Given the description of an element on the screen output the (x, y) to click on. 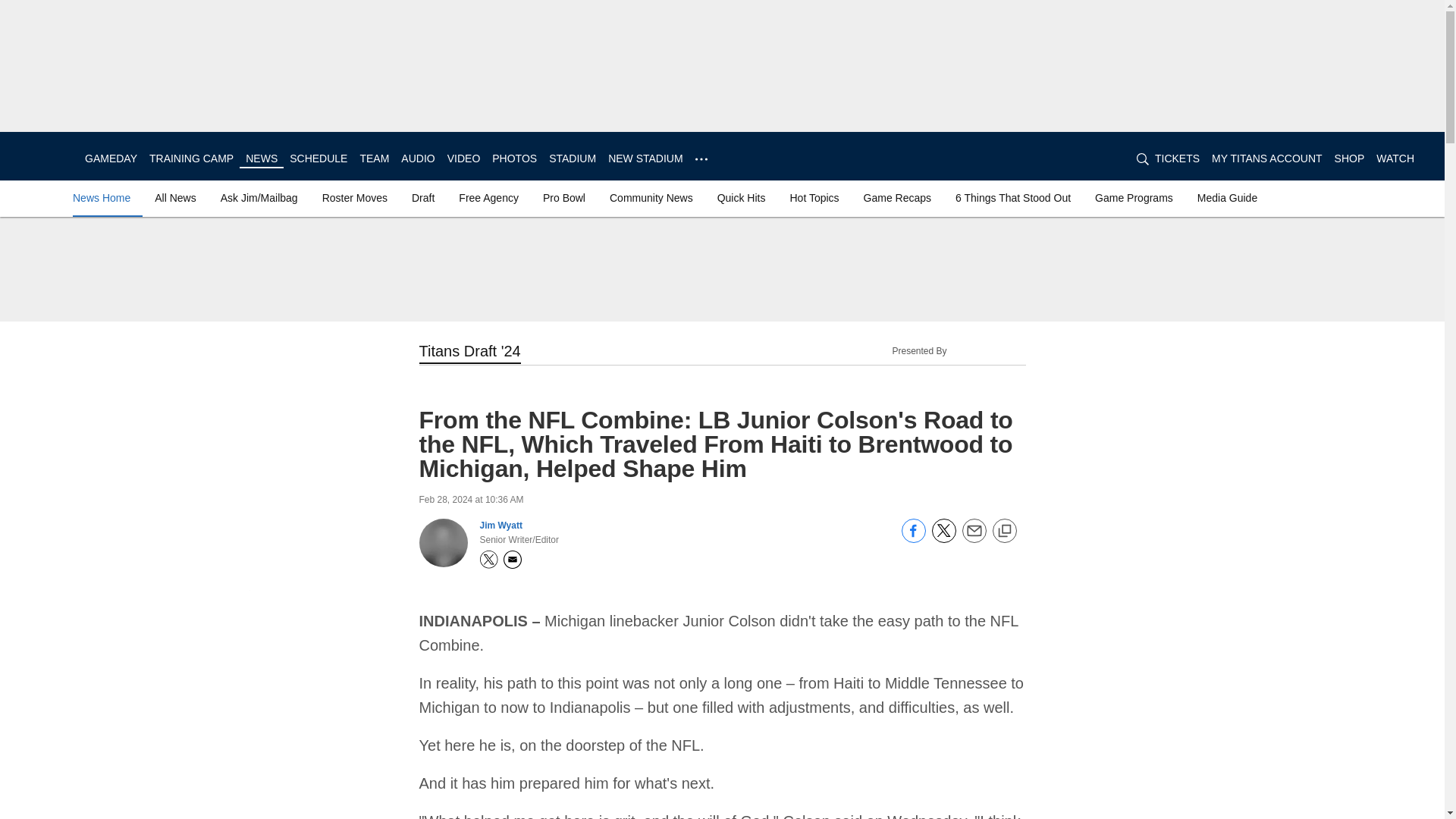
NEWS (262, 157)
TICKETS (1176, 157)
... (701, 156)
NEW STADIUM (645, 157)
Free Agency (488, 197)
STADIUM (571, 157)
NEW STADIUM (645, 157)
News Home (104, 197)
TRAINING CAMP (190, 157)
AUDIO (417, 157)
